Given the description of an element on the screen output the (x, y) to click on. 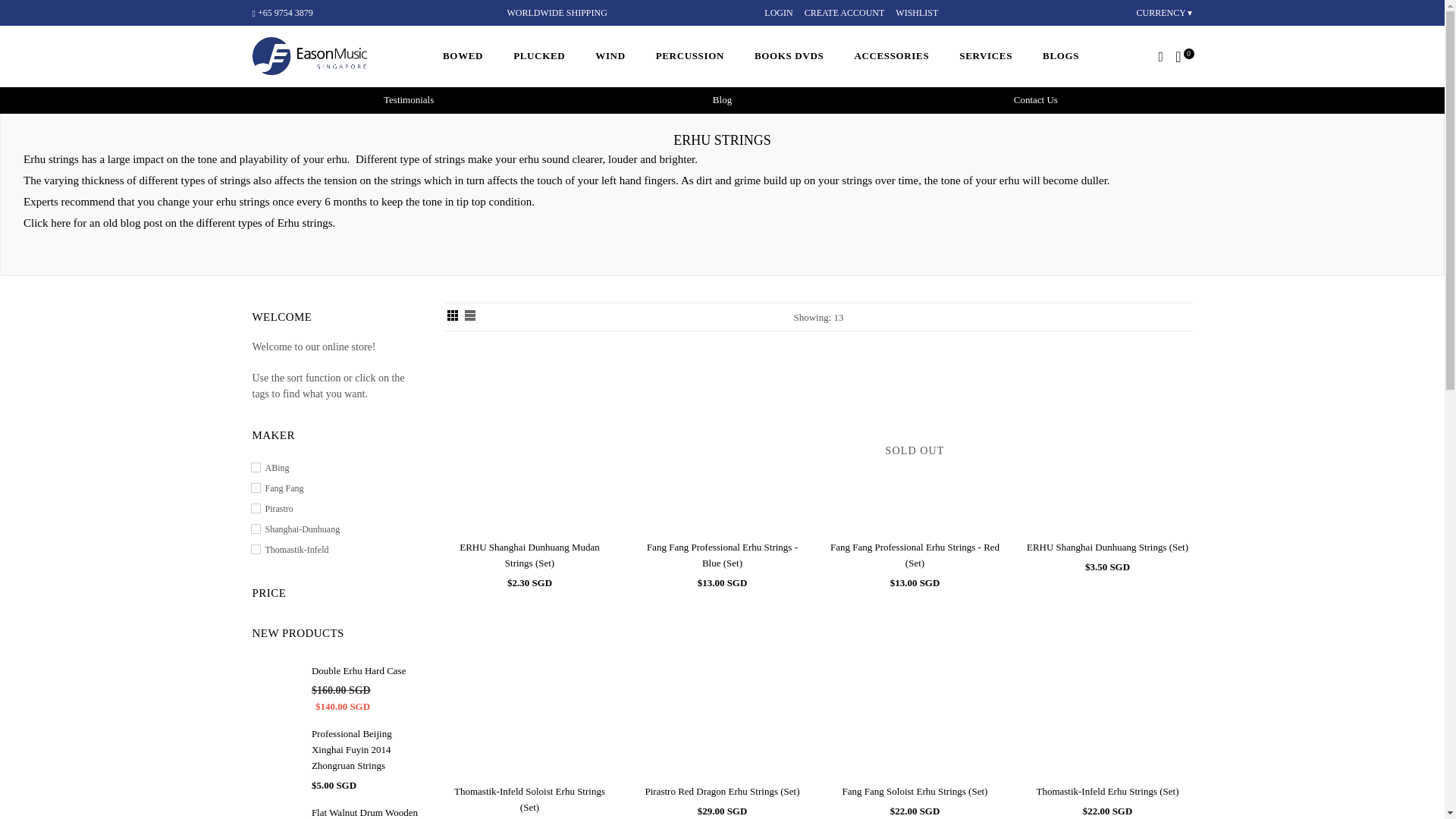
WISHLIST (916, 12)
BOWED (462, 55)
LOGIN (778, 12)
CREATE ACCOUNT (845, 12)
Blog Post on Erhu Strings (178, 223)
